Given the description of an element on the screen output the (x, y) to click on. 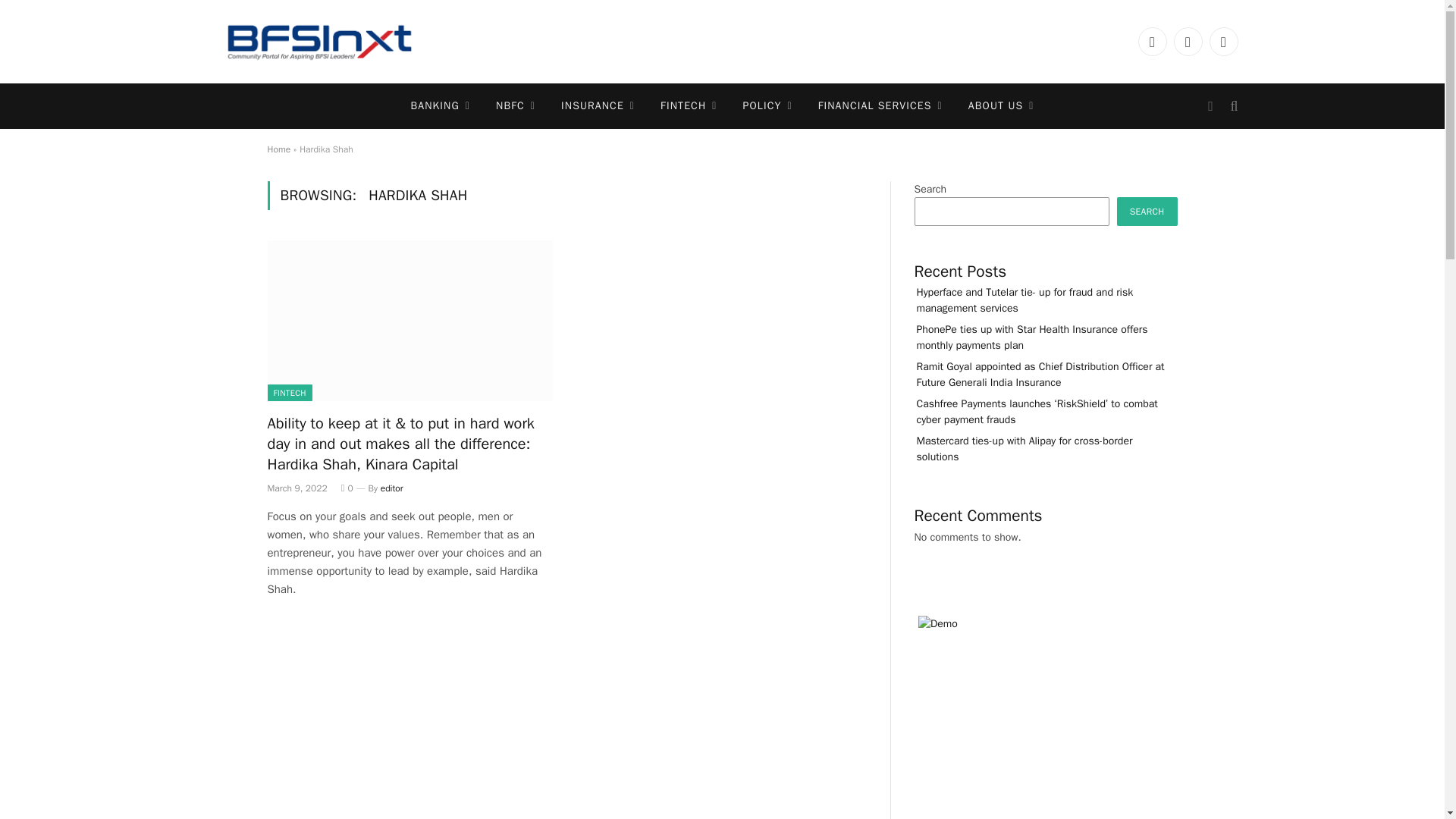
BFSINXT (318, 41)
Twitter (1151, 41)
LinkedIn (1222, 41)
FINTECH (688, 105)
YouTube (1187, 41)
BANKING (440, 105)
Switch to Dark Design - easier on eyes. (1209, 106)
Posts by editor (391, 488)
NBFC (515, 105)
INSURANCE (597, 105)
